Given the description of an element on the screen output the (x, y) to click on. 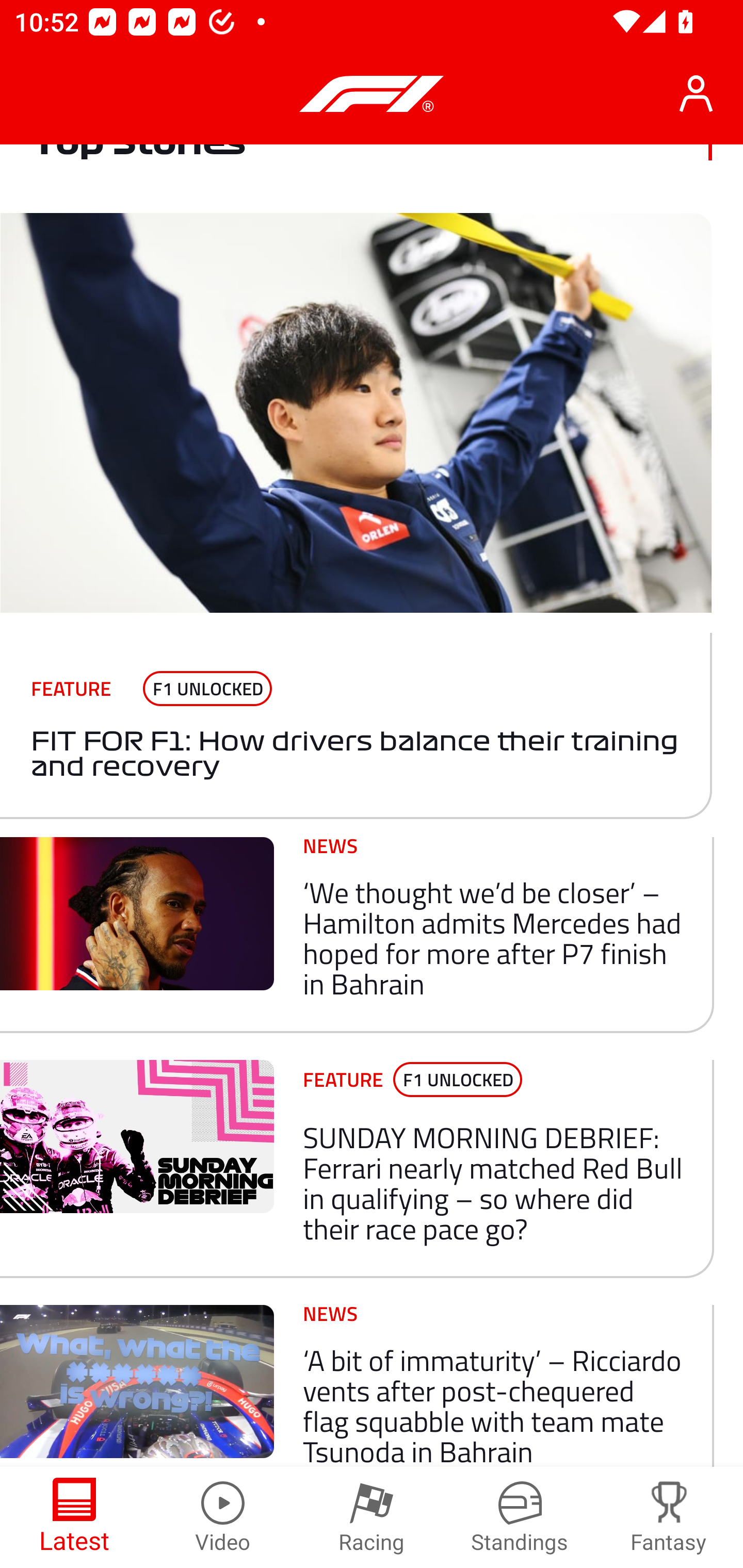
Video (222, 1517)
Racing (371, 1517)
Standings (519, 1517)
Fantasy (668, 1517)
